Given the description of an element on the screen output the (x, y) to click on. 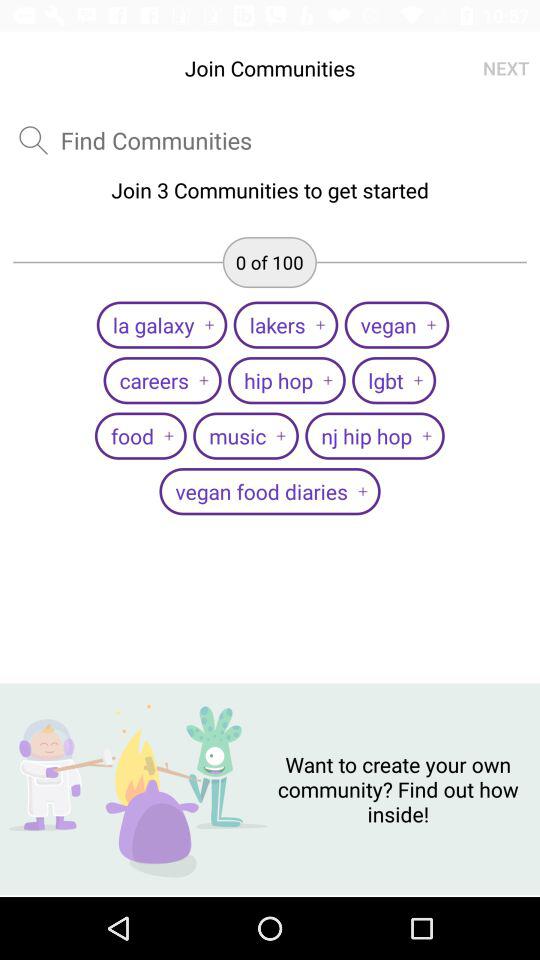
turn on the item above the join 3 communities (156, 140)
